Given the description of an element on the screen output the (x, y) to click on. 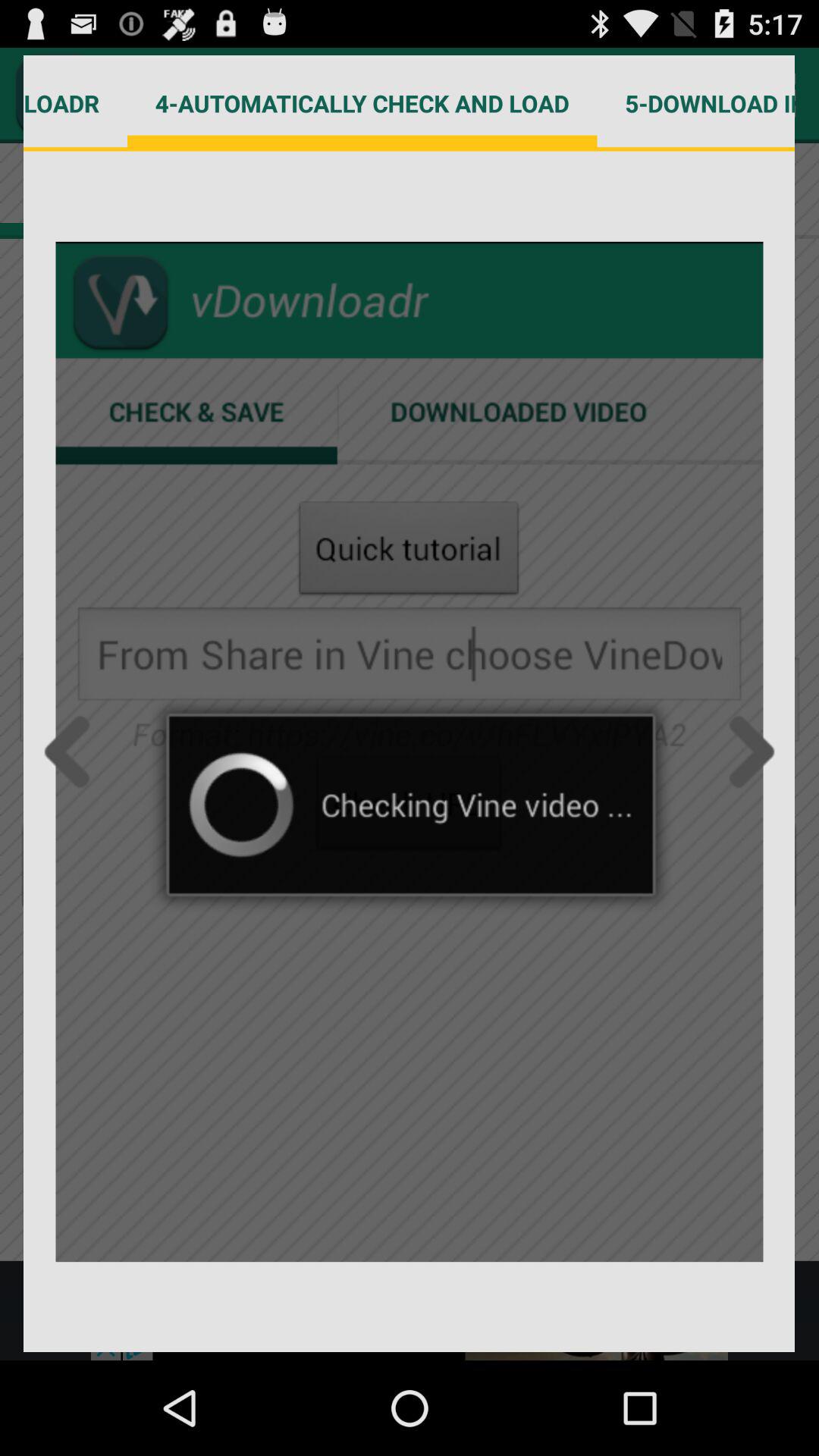
turn off item to the left of the 4 automatically check (75, 103)
